Given the description of an element on the screen output the (x, y) to click on. 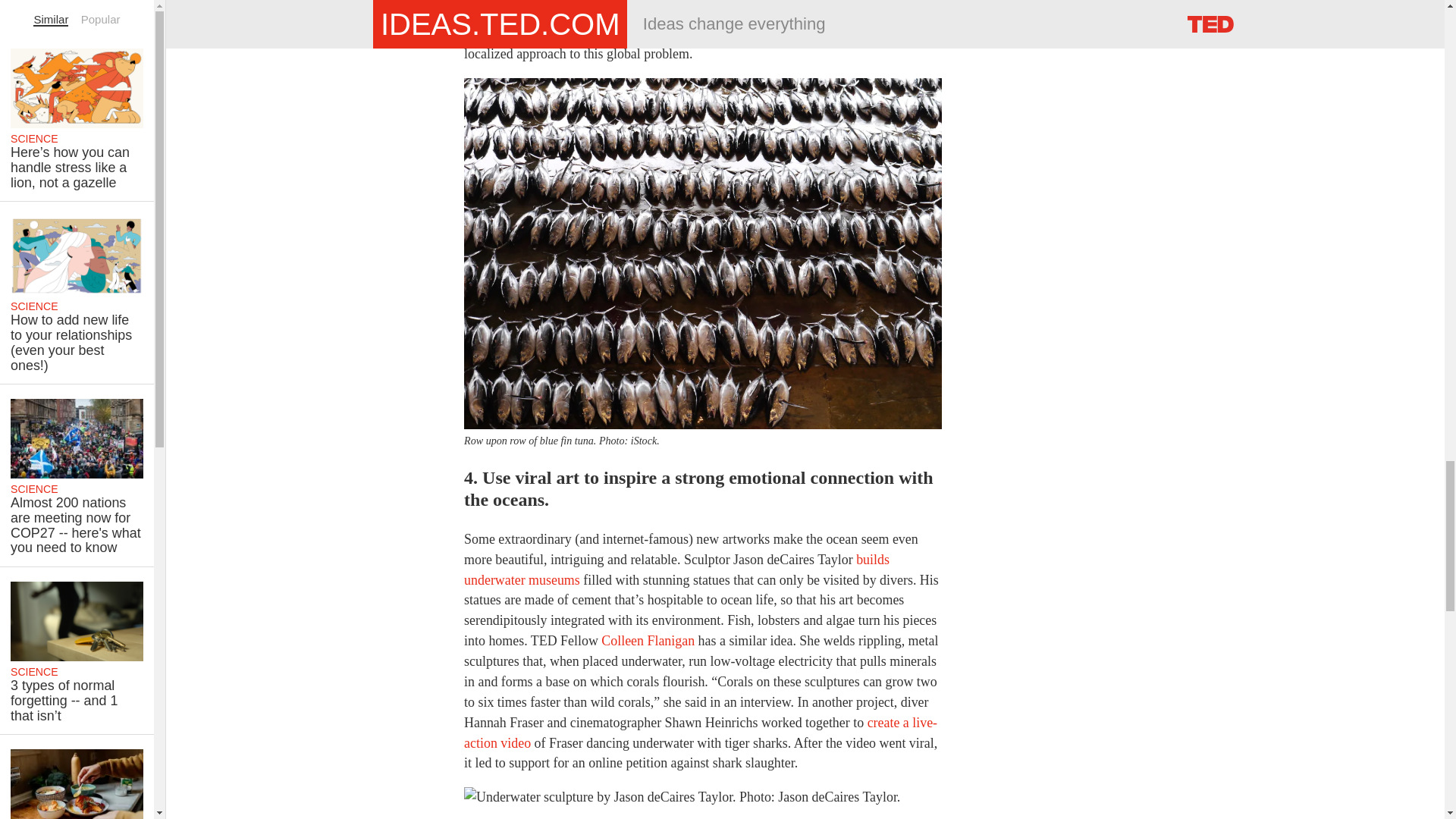
praise and large-scale funding (707, 32)
Colleen Flanigan (647, 640)
builds underwater museums (676, 570)
